Given the description of an element on the screen output the (x, y) to click on. 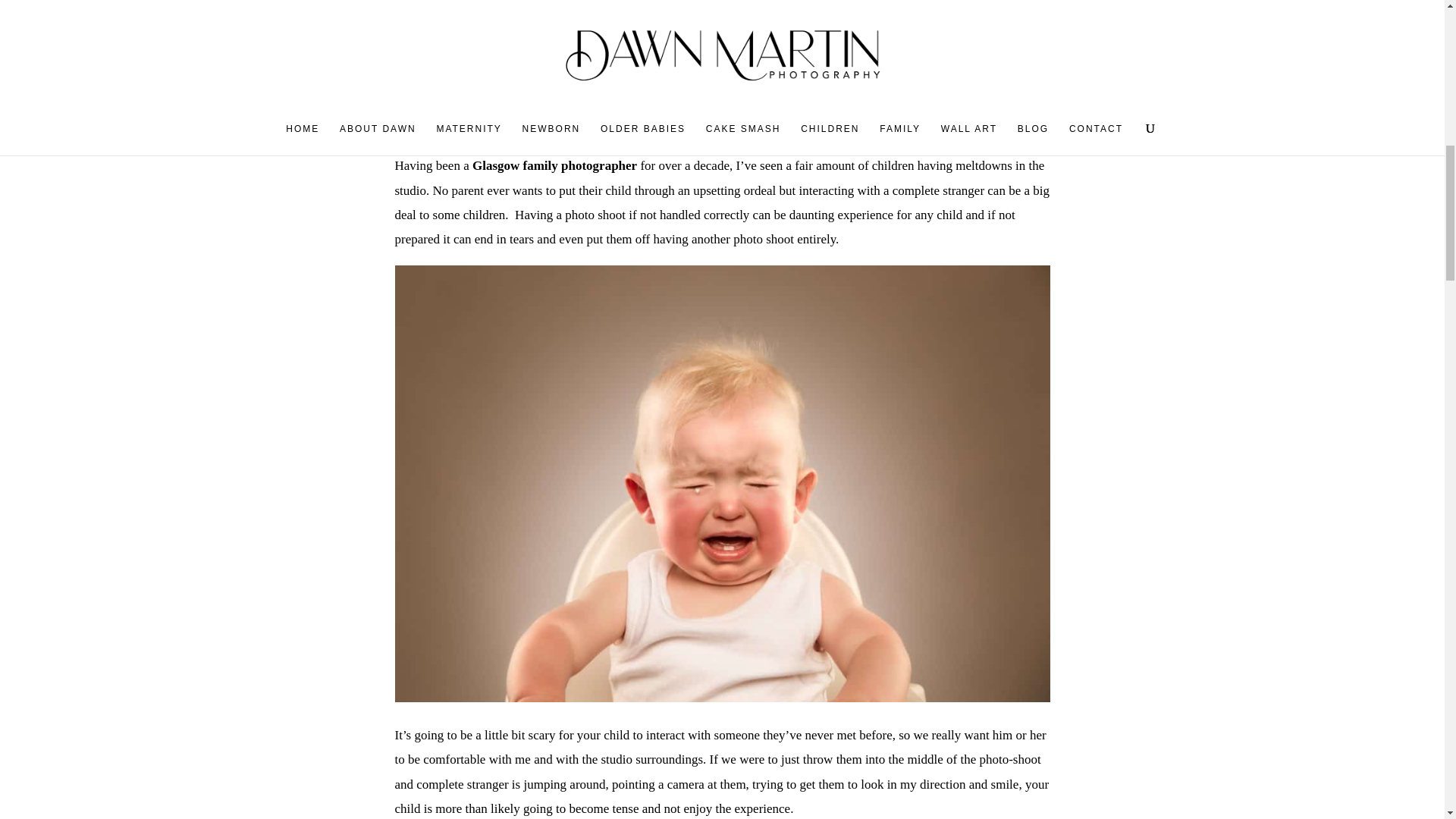
Child Portraits (789, 6)
Glasgow Family Photographer (911, 6)
Child Photography (696, 6)
Portraiture (1024, 6)
Child Photographer Glasgow (567, 6)
Baby photography (438, 6)
